Given the description of an element on the screen output the (x, y) to click on. 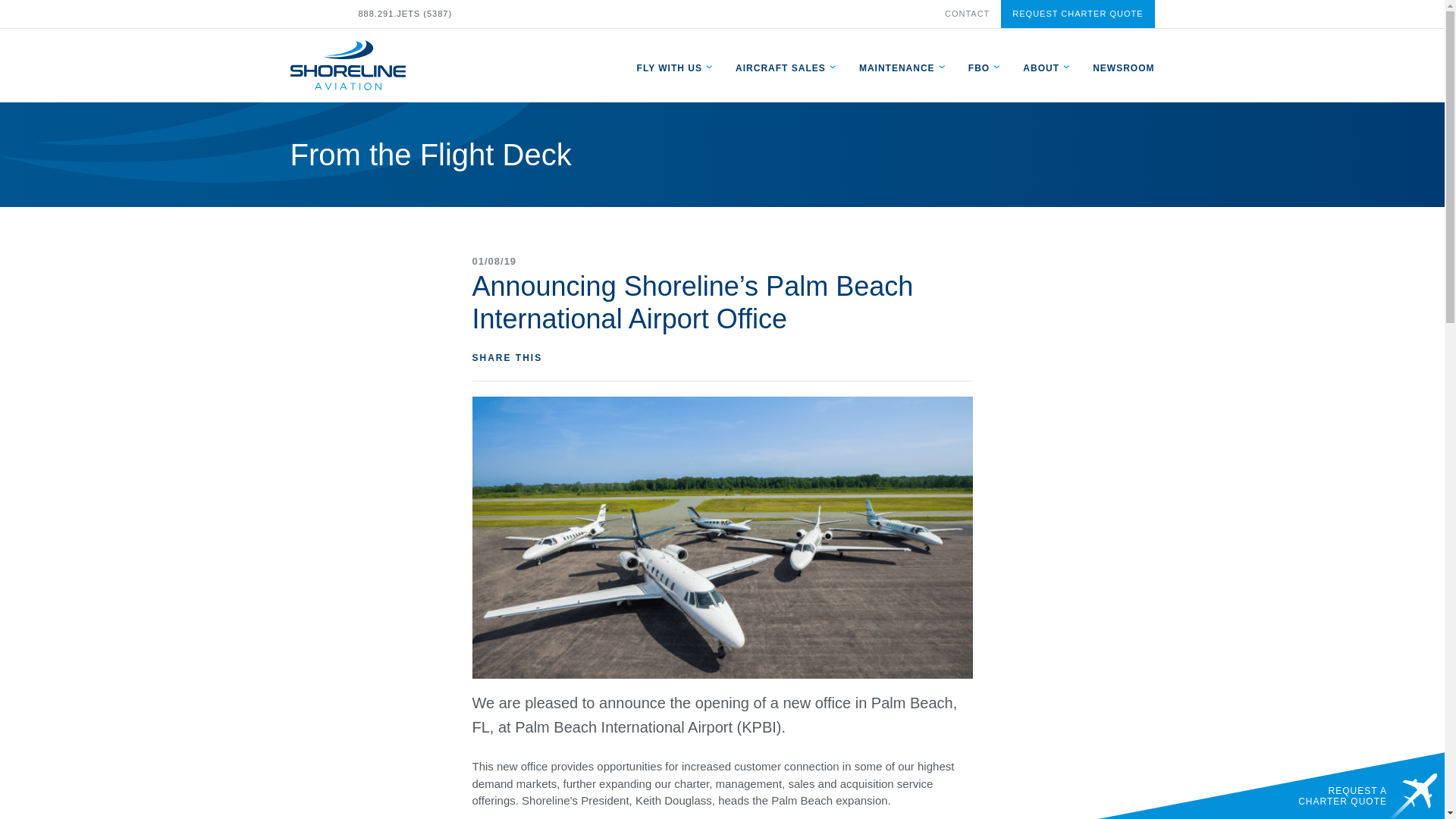
FBO (979, 67)
MAINTENANCE (896, 67)
AIRCRAFT SALES (780, 67)
CONTACT (967, 13)
REQUEST CHARTER QUOTE (1077, 13)
ABOUT (1041, 67)
NEWSROOM (1123, 67)
FLY WITH US (669, 67)
